Given the description of an element on the screen output the (x, y) to click on. 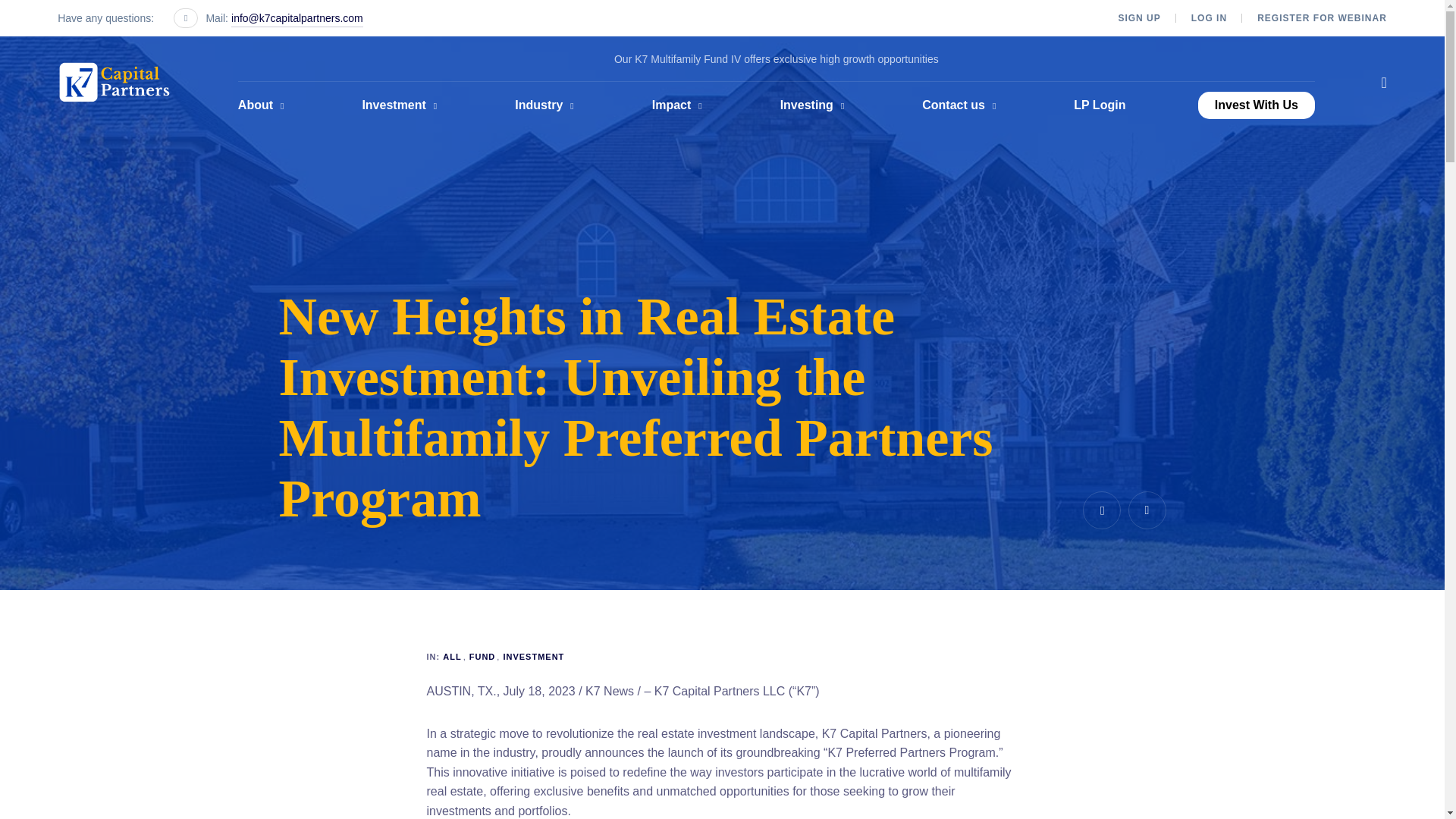
Impact (679, 104)
Invest With Us (1256, 104)
Contact us (961, 104)
SIGN UP (1139, 18)
About (263, 104)
Investment (401, 104)
REGISTER FOR WEBINAR (1322, 18)
LP Login (1099, 104)
LOG IN (1209, 18)
Investing (815, 104)
Industry (547, 104)
